Given the description of an element on the screen output the (x, y) to click on. 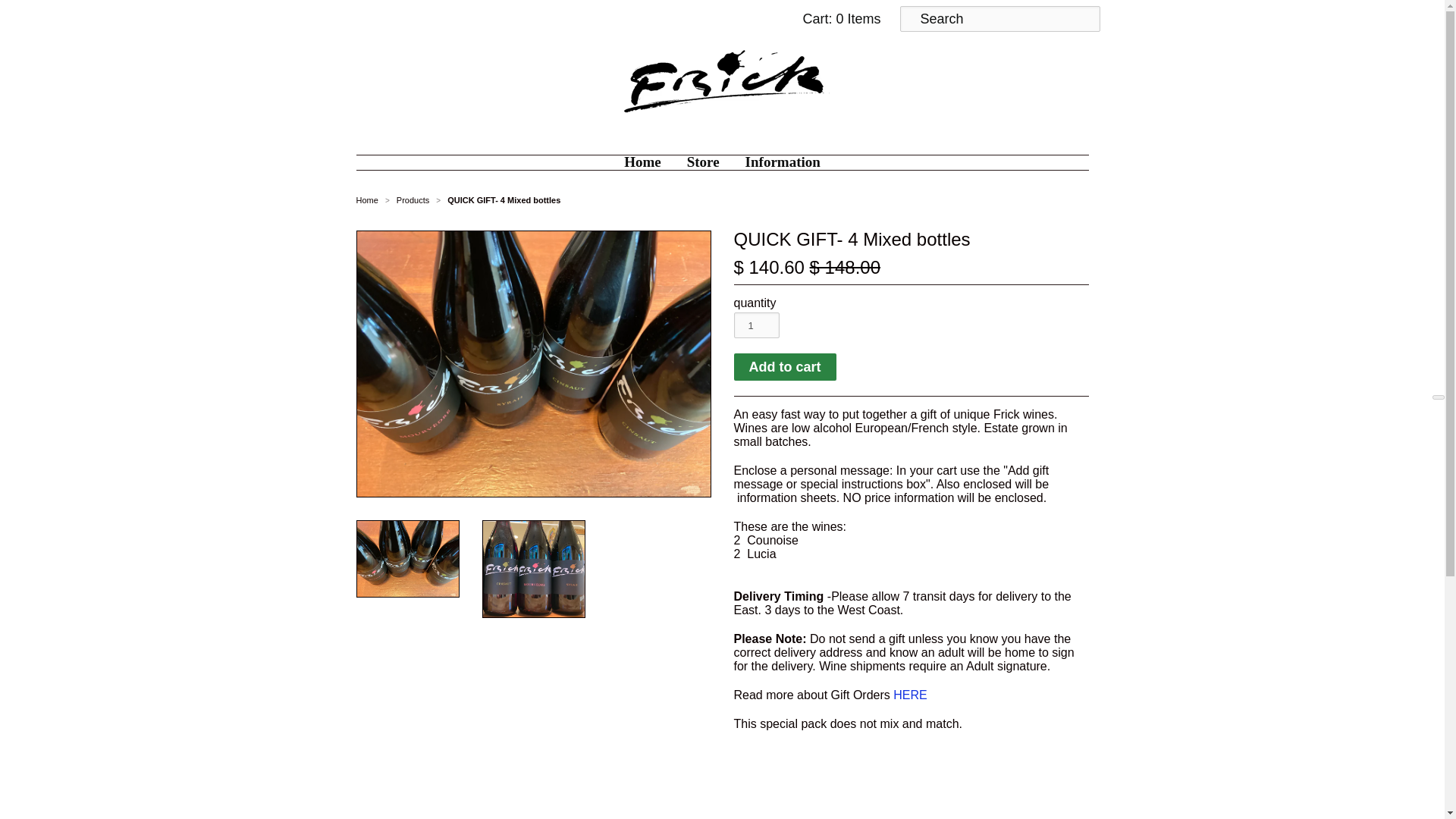
Information (782, 161)
Home (642, 161)
Products (413, 199)
All Products (413, 199)
Frick Winery (367, 199)
Store (702, 161)
1 (755, 325)
Home (367, 199)
Cart (838, 18)
Add to cart (784, 366)
